Given the description of an element on the screen output the (x, y) to click on. 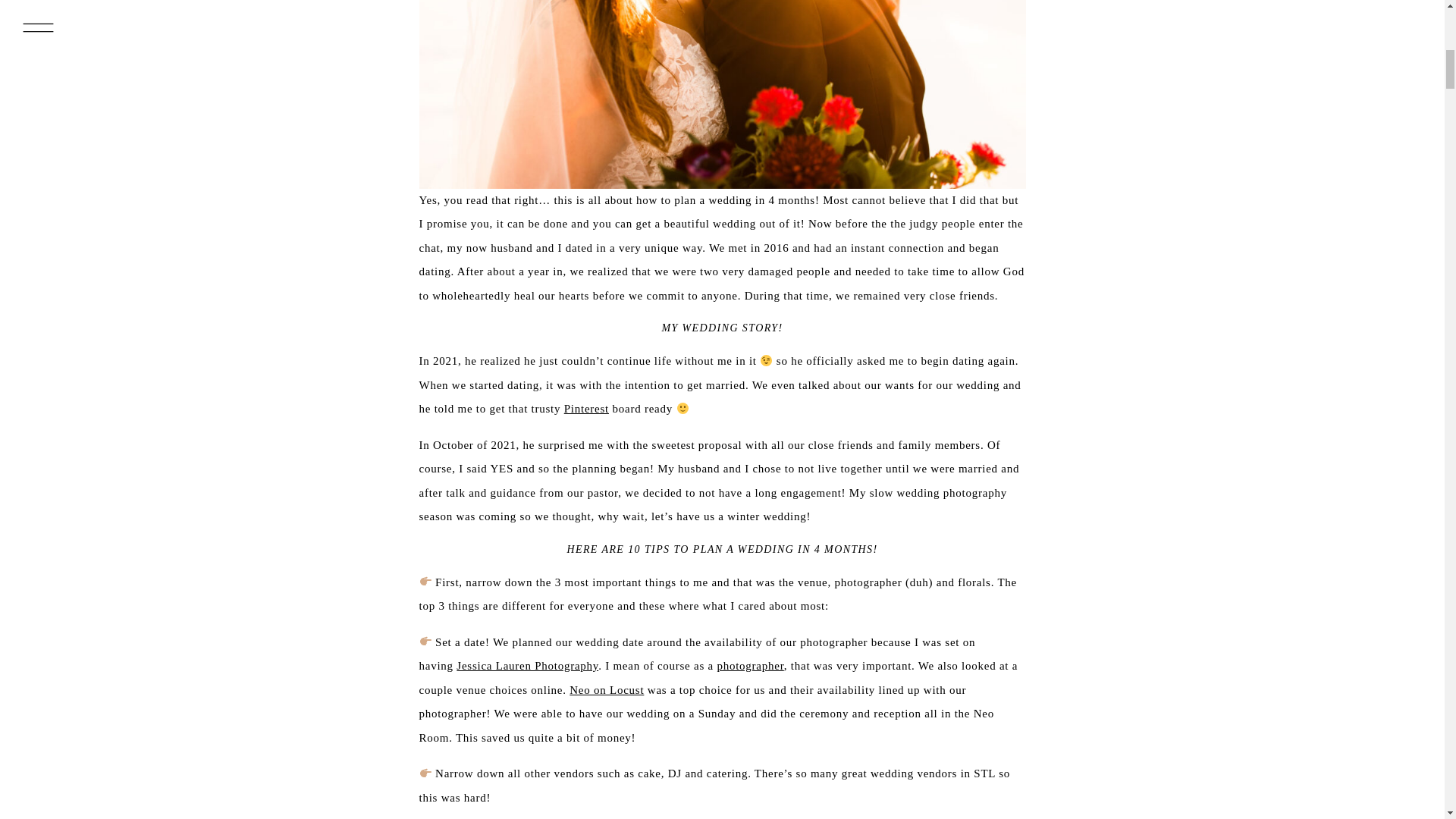
Pinterest (586, 408)
photographer (749, 665)
Jessica Lauren Photography (527, 665)
Neo on Locust (606, 689)
